Given the description of an element on the screen output the (x, y) to click on. 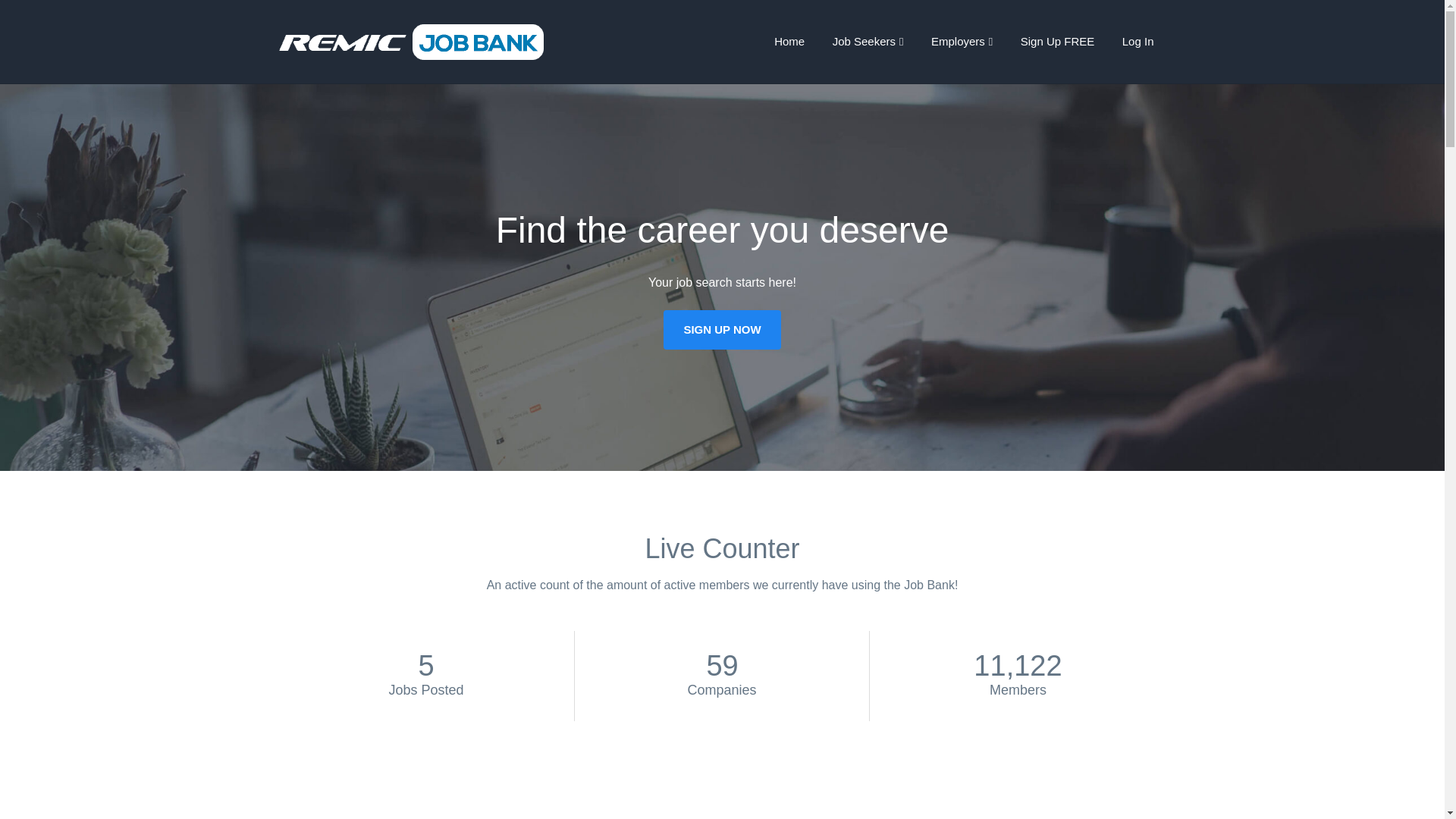
THE REMIC JOB BANK (464, 42)
The REMIC Job Bank (464, 42)
Employers (961, 41)
SIGN UP NOW (721, 329)
Home (788, 41)
Log In (1137, 41)
Sign Up FREE (1057, 41)
Job Seekers (868, 41)
